Given the description of an element on the screen output the (x, y) to click on. 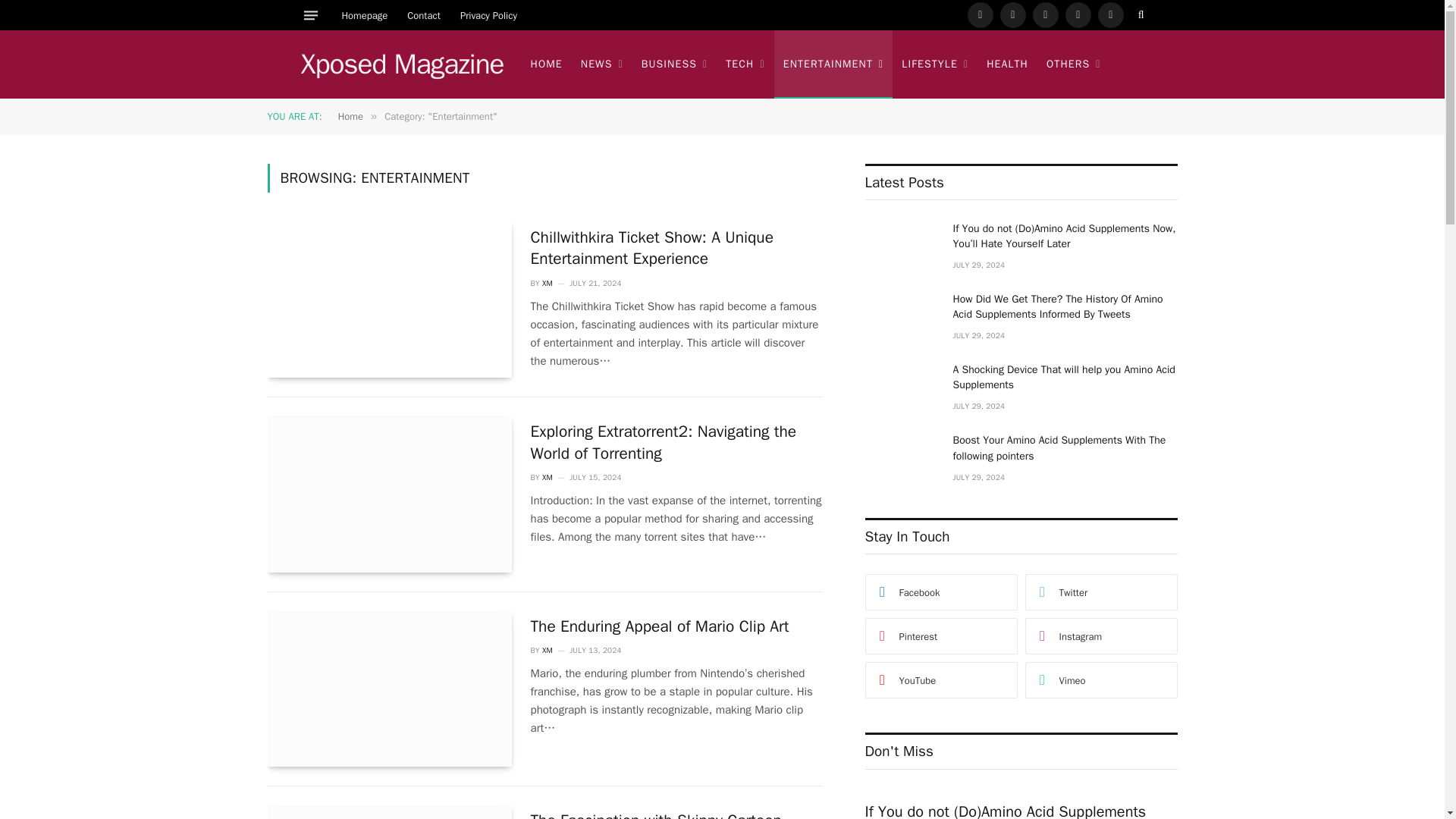
The Fascination with Skinny Cartoon Characters (388, 812)
Exploring Extratorrent2: Navigating the World of Torrenting (388, 493)
Posts by XM (547, 650)
Xposed Magazine (401, 64)
xposed magazine news (401, 64)
Posts by XM (547, 477)
Pinterest (1077, 14)
Facebook (980, 14)
NEWS (601, 64)
Posts by XM (547, 283)
